Given the description of an element on the screen output the (x, y) to click on. 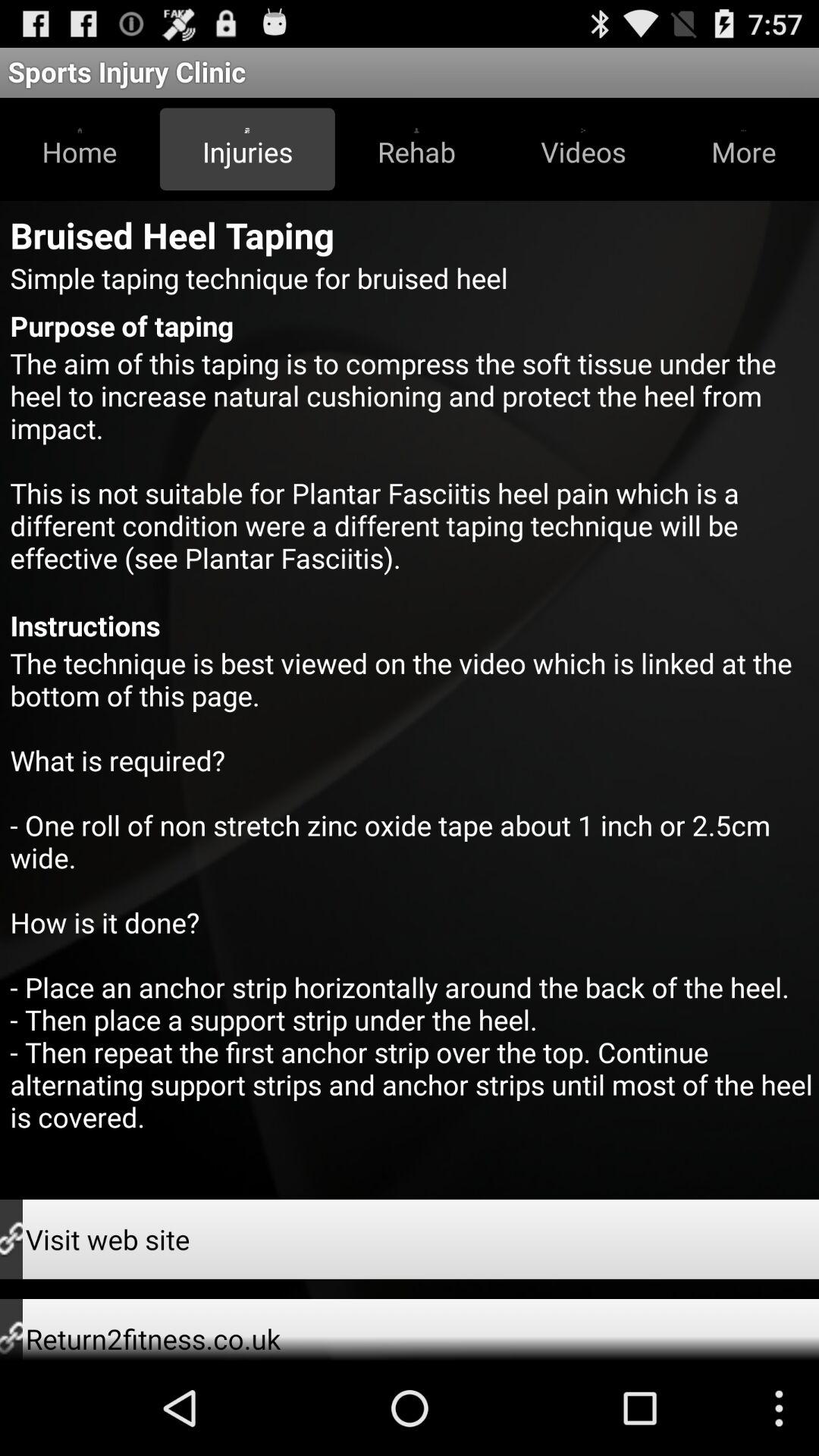
open button to the left of more (583, 149)
